Given the description of an element on the screen output the (x, y) to click on. 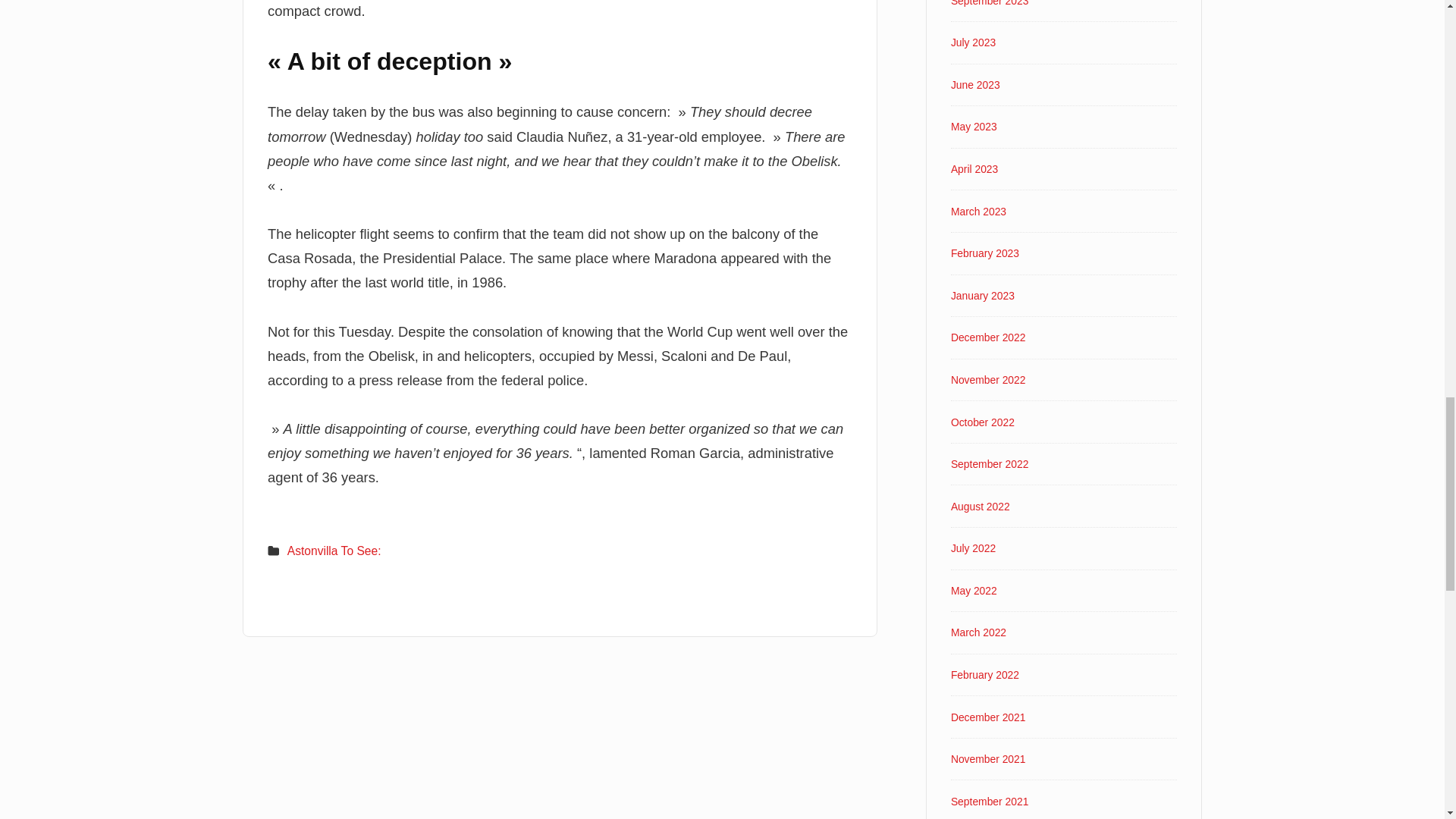
June 2023 (975, 84)
November 2022 (988, 379)
February 2023 (984, 253)
December 2022 (988, 337)
September 2023 (988, 3)
July 2023 (972, 42)
January 2023 (982, 295)
April 2023 (973, 168)
March 2023 (978, 211)
May 2023 (973, 126)
